Given the description of an element on the screen output the (x, y) to click on. 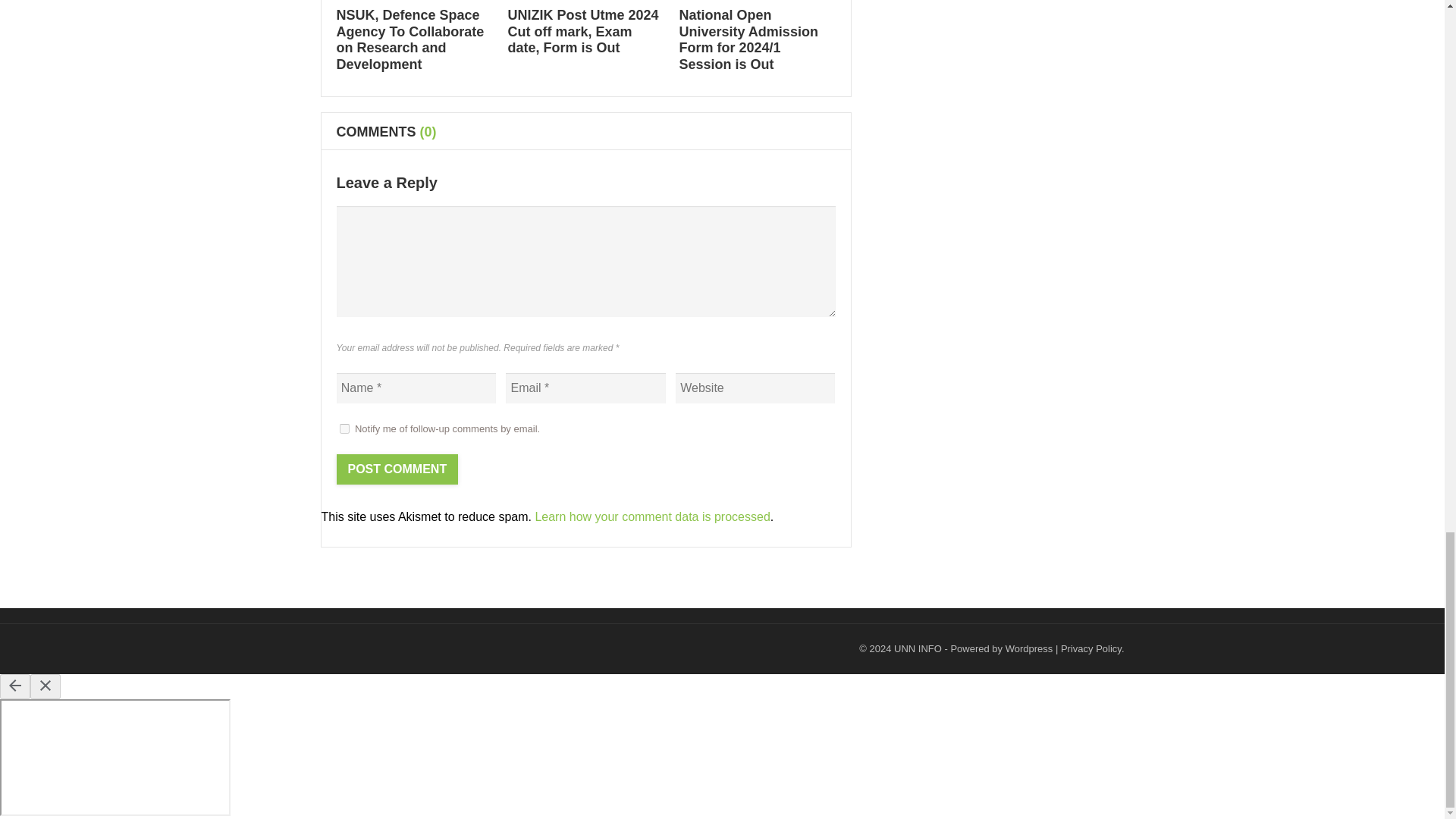
Post Comment (397, 469)
subscribe (344, 429)
UNIZIK Post Utme 2024 Cut off mark, Exam date, Form is Out (583, 31)
